Given the description of an element on the screen output the (x, y) to click on. 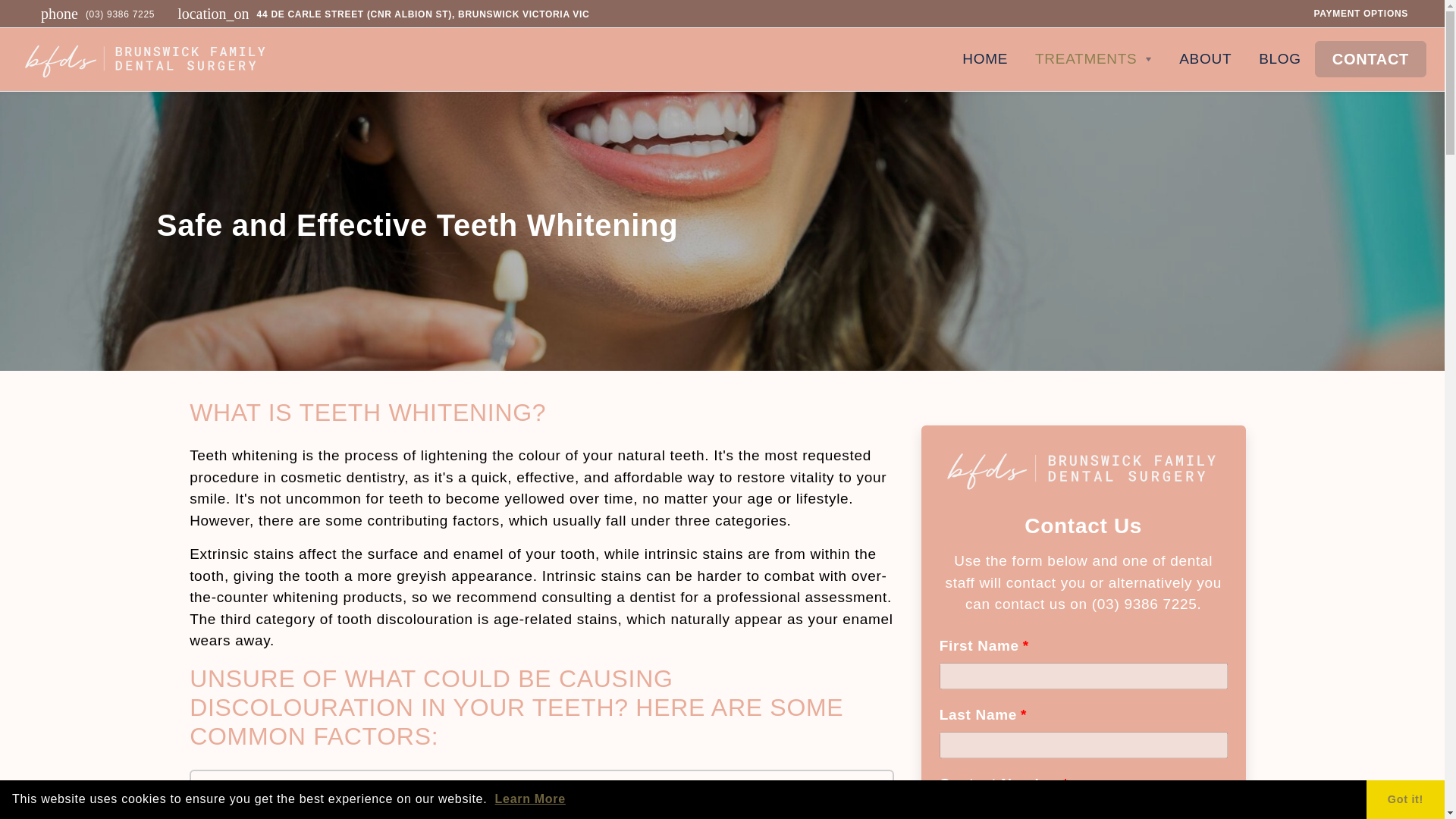
HOME (985, 59)
Learn More (530, 798)
BLOG (1279, 59)
CONTACT (1370, 58)
ABOUT (1205, 59)
TREATMENTS (1094, 59)
PAYMENT OPTIONS (1360, 13)
